Given the description of an element on the screen output the (x, y) to click on. 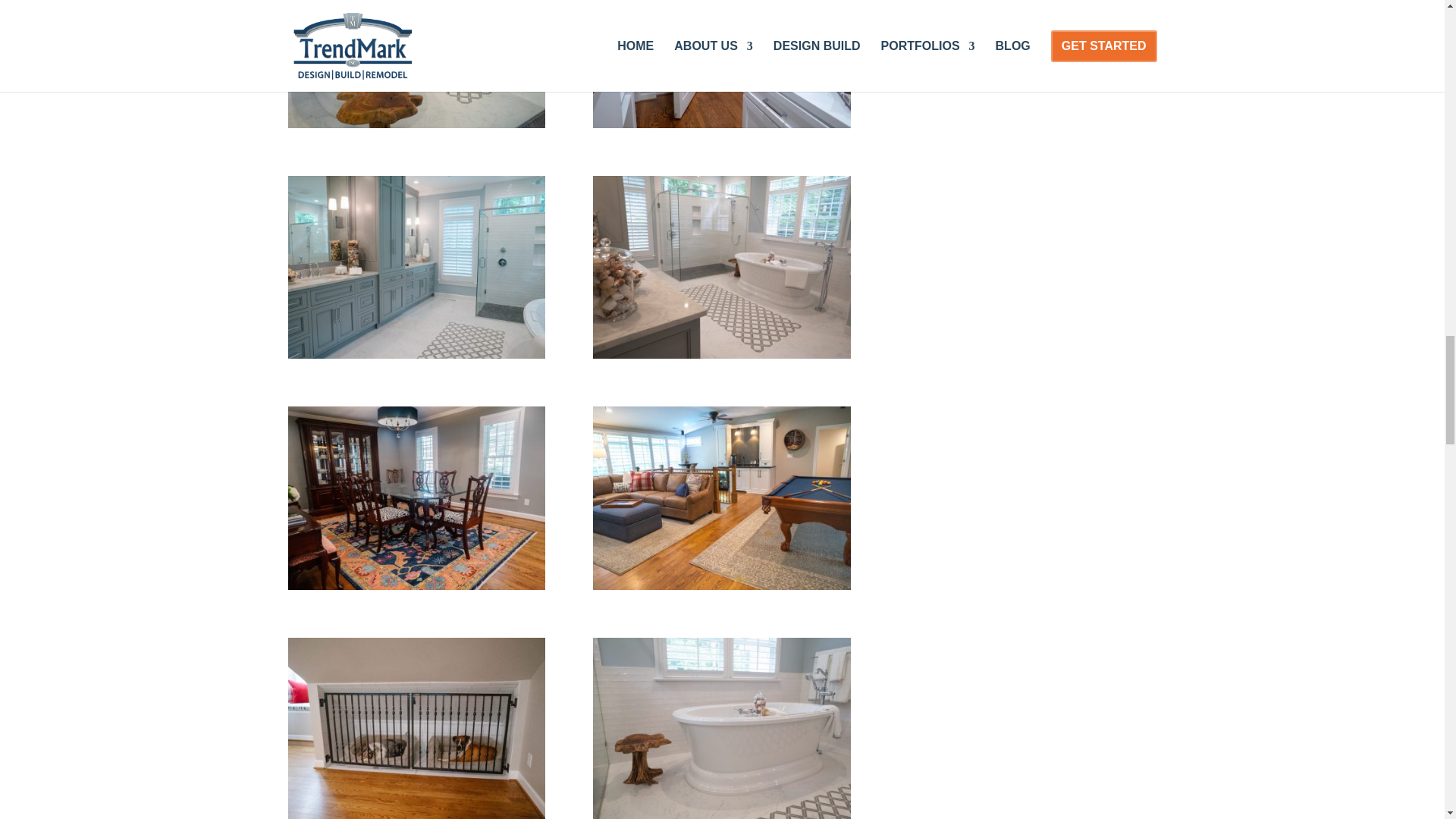
2020 Buckingham Addition-Whole House -37 (721, 123)
2020 Buckingham Addition-Whole House -38 (417, 353)
2020 Buckingham Addition-Whole House -40 (417, 123)
